Given the description of an element on the screen output the (x, y) to click on. 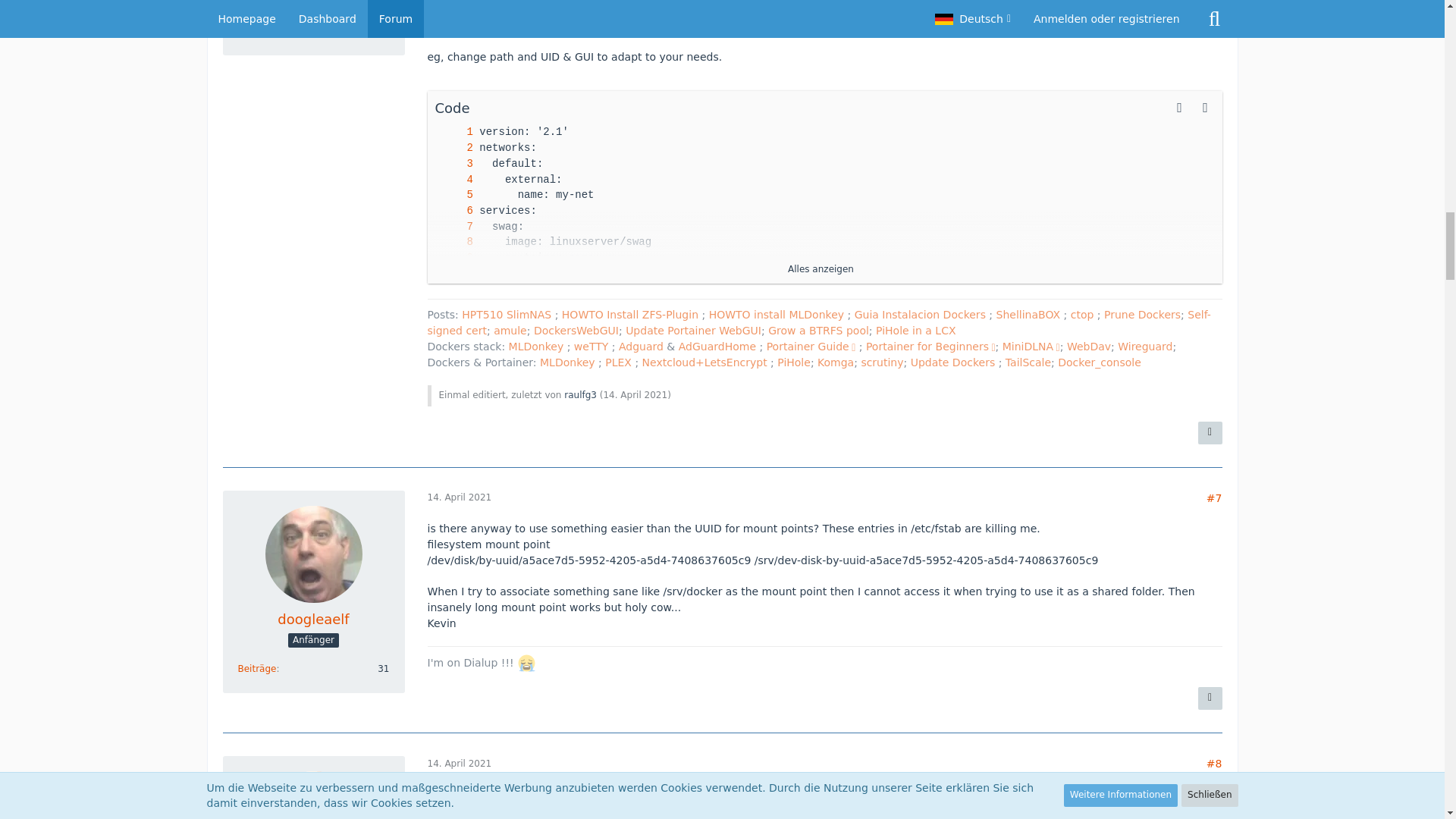
3 (454, 163)
1 (454, 132)
5 (454, 195)
2 (454, 148)
4 (454, 179)
